Given the description of an element on the screen output the (x, y) to click on. 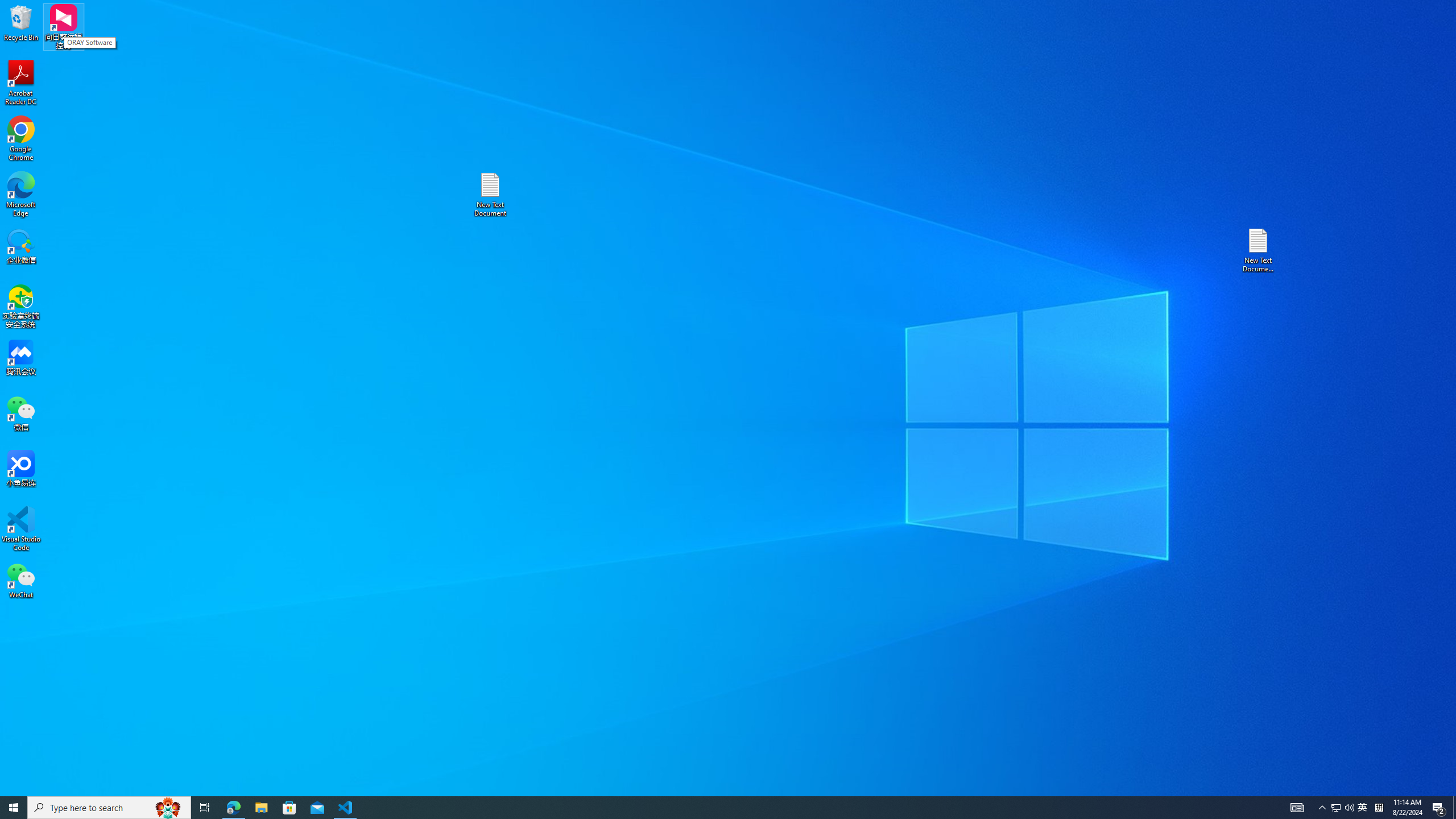
Search highlights icon opens search home window (167, 807)
New Text Document (489, 194)
Microsoft Edge - 1 running window (233, 807)
Visual Studio Code - 1 running window (345, 807)
Microsoft Store (289, 807)
Type here to search (108, 807)
User Promoted Notification Area (1342, 807)
Notification Chevron (1322, 807)
Microsoft Edge (21, 194)
WeChat (21, 580)
